Given the description of an element on the screen output the (x, y) to click on. 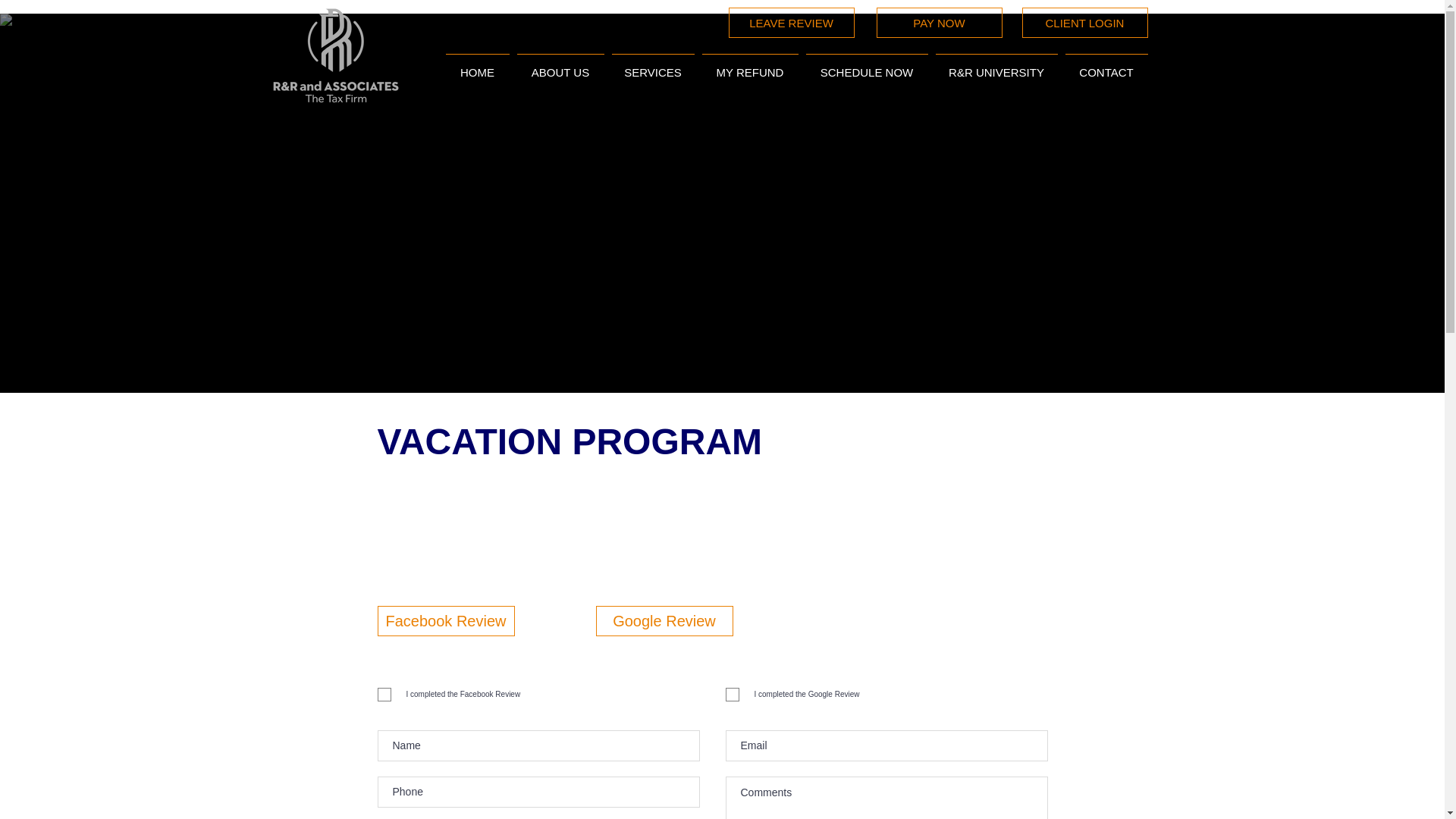
CLIENT LOGIN (1085, 22)
SERVICES (653, 65)
CONTACT (1106, 65)
MY REFUND (749, 65)
Google Review (664, 621)
LEAVE REVIEW (790, 22)
SCHEDULE NOW (866, 65)
ABOUT US (559, 65)
HOME (476, 65)
Facebook Review (446, 621)
PAY NOW (939, 22)
